Given the description of an element on the screen output the (x, y) to click on. 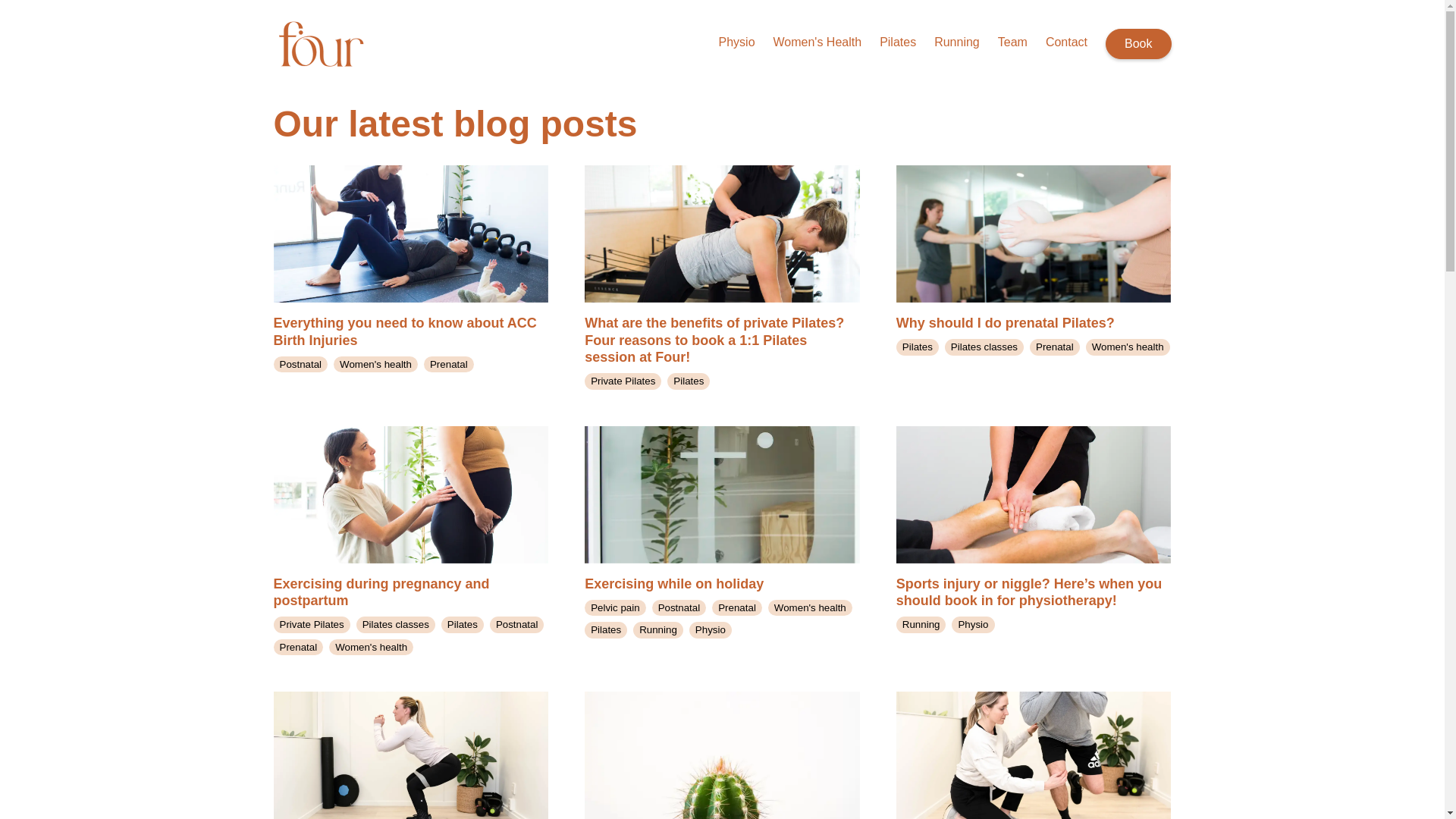
Prenatal (1054, 346)
Prenatal (736, 607)
Women's health (1128, 346)
Physio (737, 43)
Contact (1066, 43)
Women's health (371, 647)
Why should I do prenatal Pilates? (1034, 247)
Running (956, 43)
Postnatal (300, 364)
Women's health (375, 364)
